Given the description of an element on the screen output the (x, y) to click on. 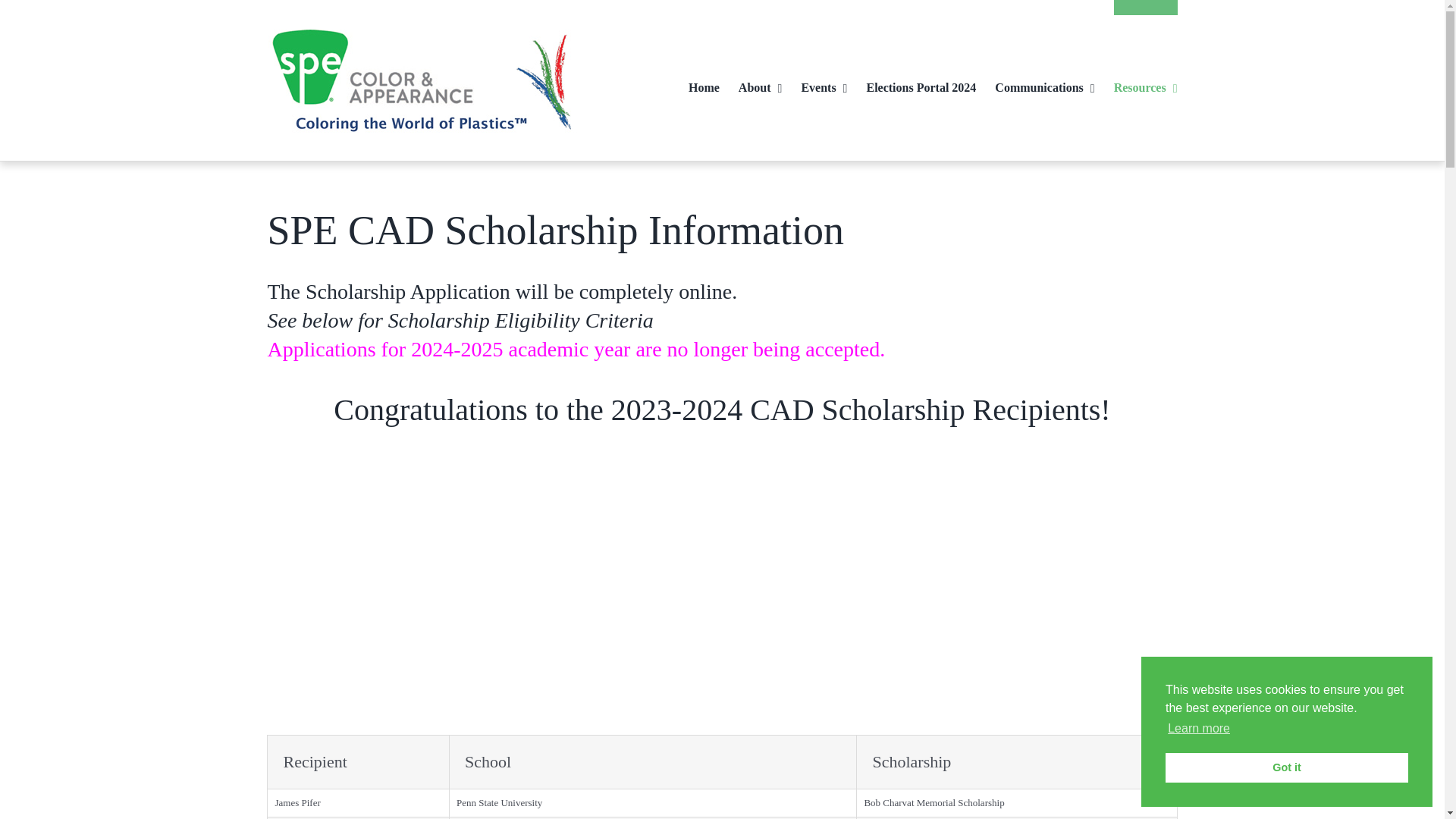
YouTube video player 1 (722, 597)
Communications (1044, 80)
Elections Portal 2024 (920, 80)
Events (823, 80)
About (760, 80)
Resources (1145, 80)
Home (703, 80)
